Given the description of an element on the screen output the (x, y) to click on. 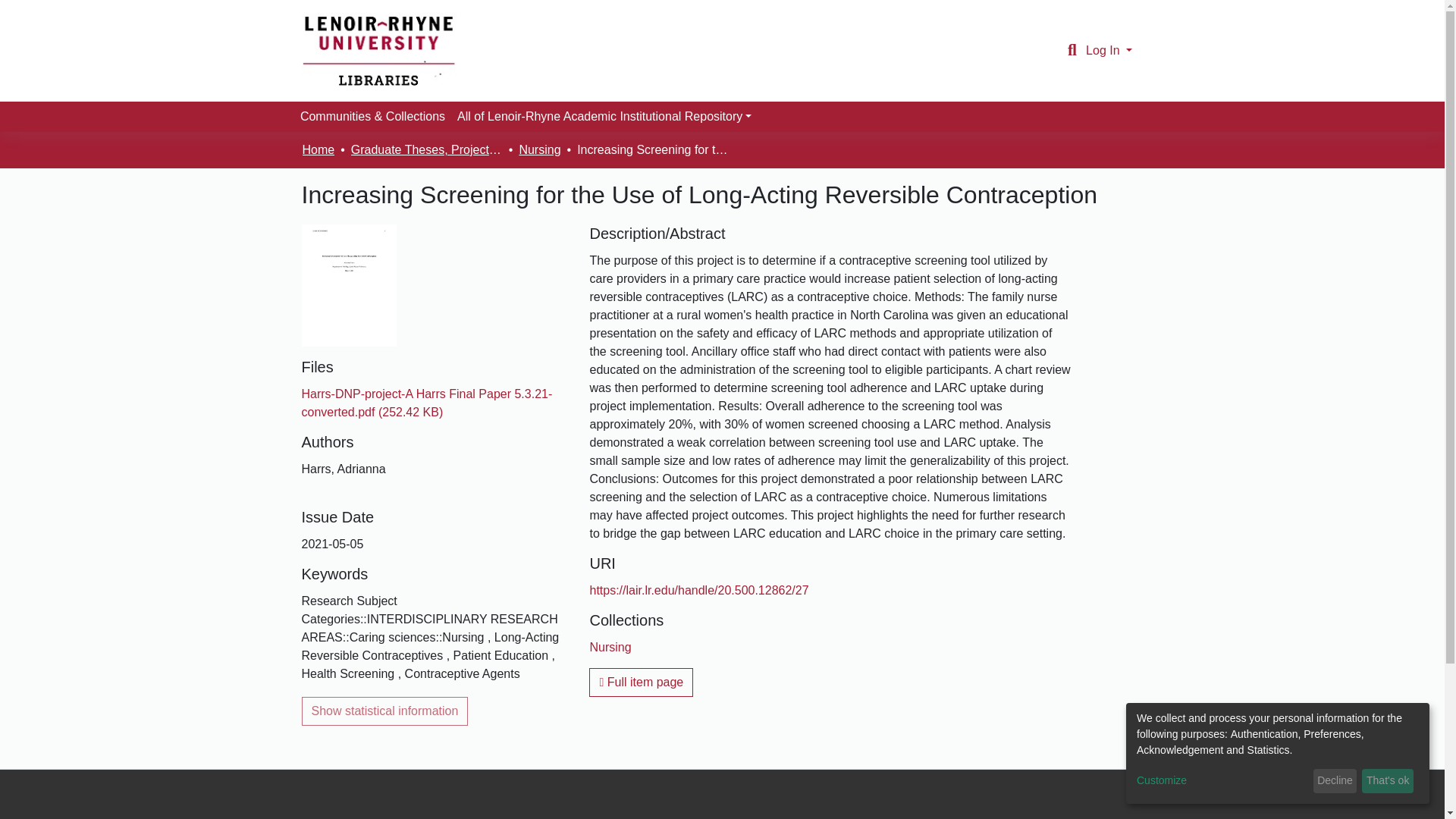
Home (317, 149)
Nursing (539, 149)
Log In (1108, 50)
That's ok (1387, 781)
Search (1072, 50)
Show statistical information (384, 710)
Nursing (609, 646)
Decline (1334, 781)
Full item page (641, 682)
Customize (1222, 780)
